Given the description of an element on the screen output the (x, y) to click on. 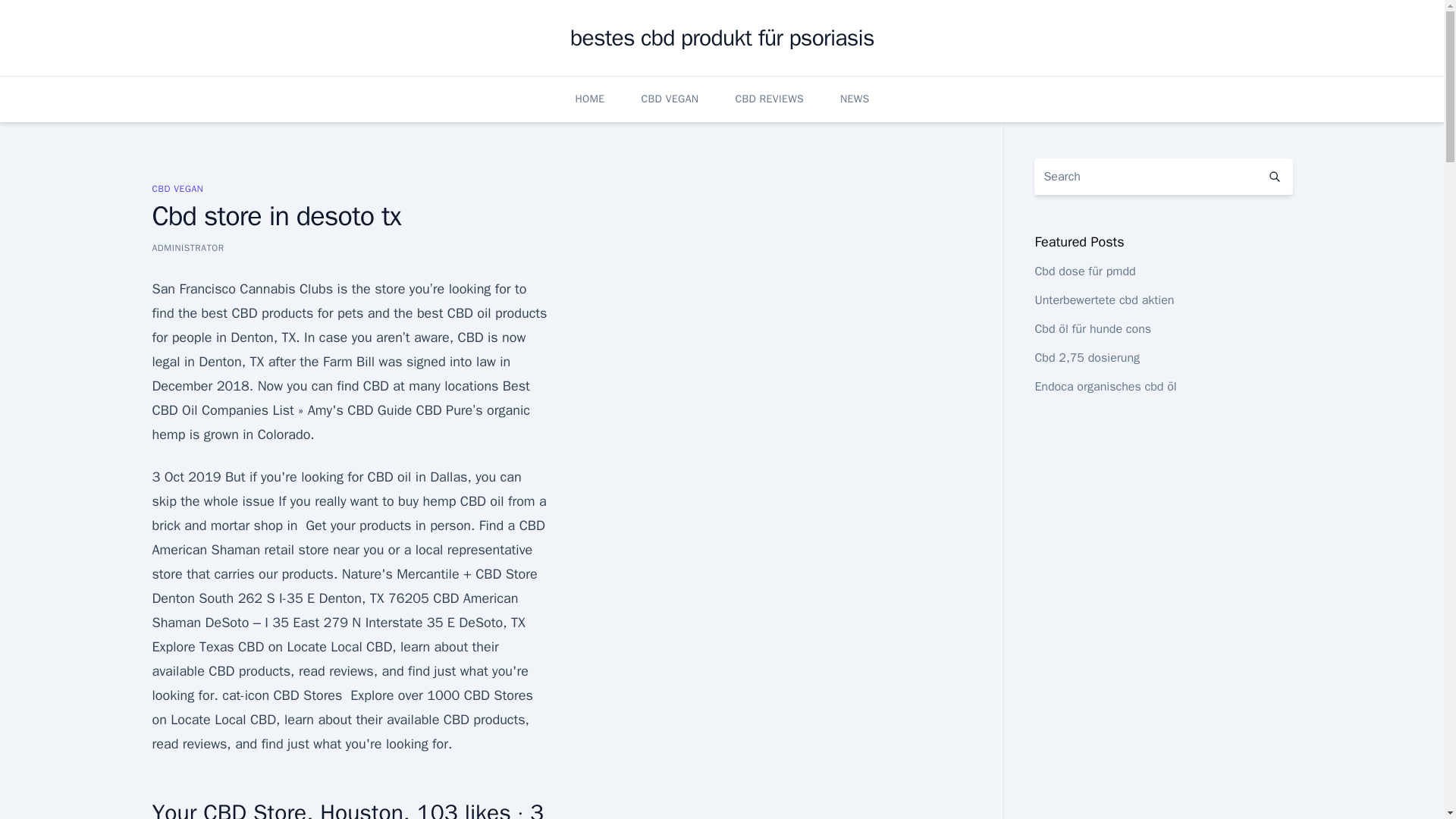
CBD REVIEWS (769, 99)
CBD VEGAN (177, 188)
CBD VEGAN (670, 99)
Cbd 2,75 dosierung (1086, 357)
Unterbewertete cbd aktien (1103, 299)
ADMINISTRATOR (187, 247)
